Given the description of an element on the screen output the (x, y) to click on. 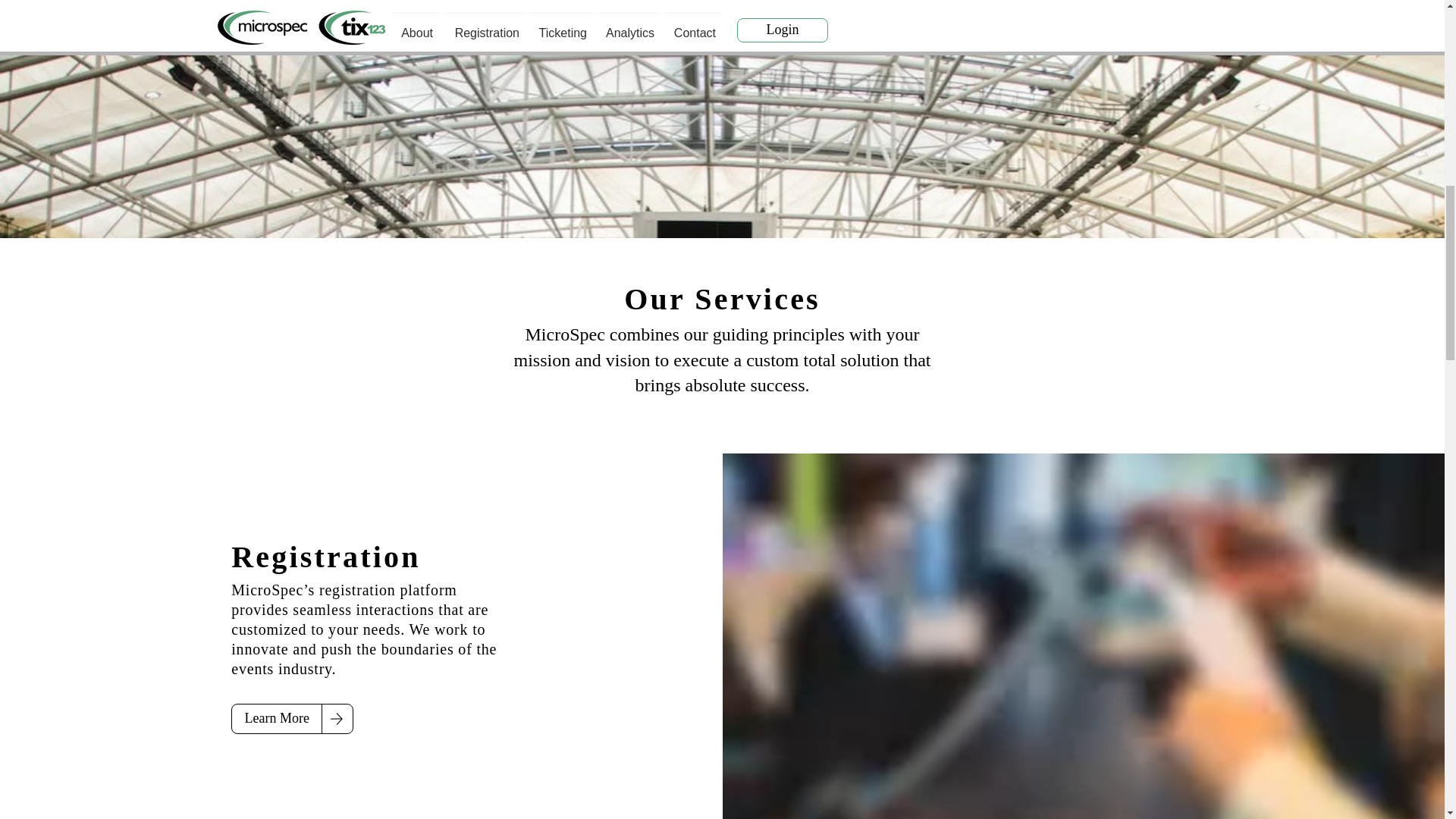
Learn More (276, 718)
